Given the description of an element on the screen output the (x, y) to click on. 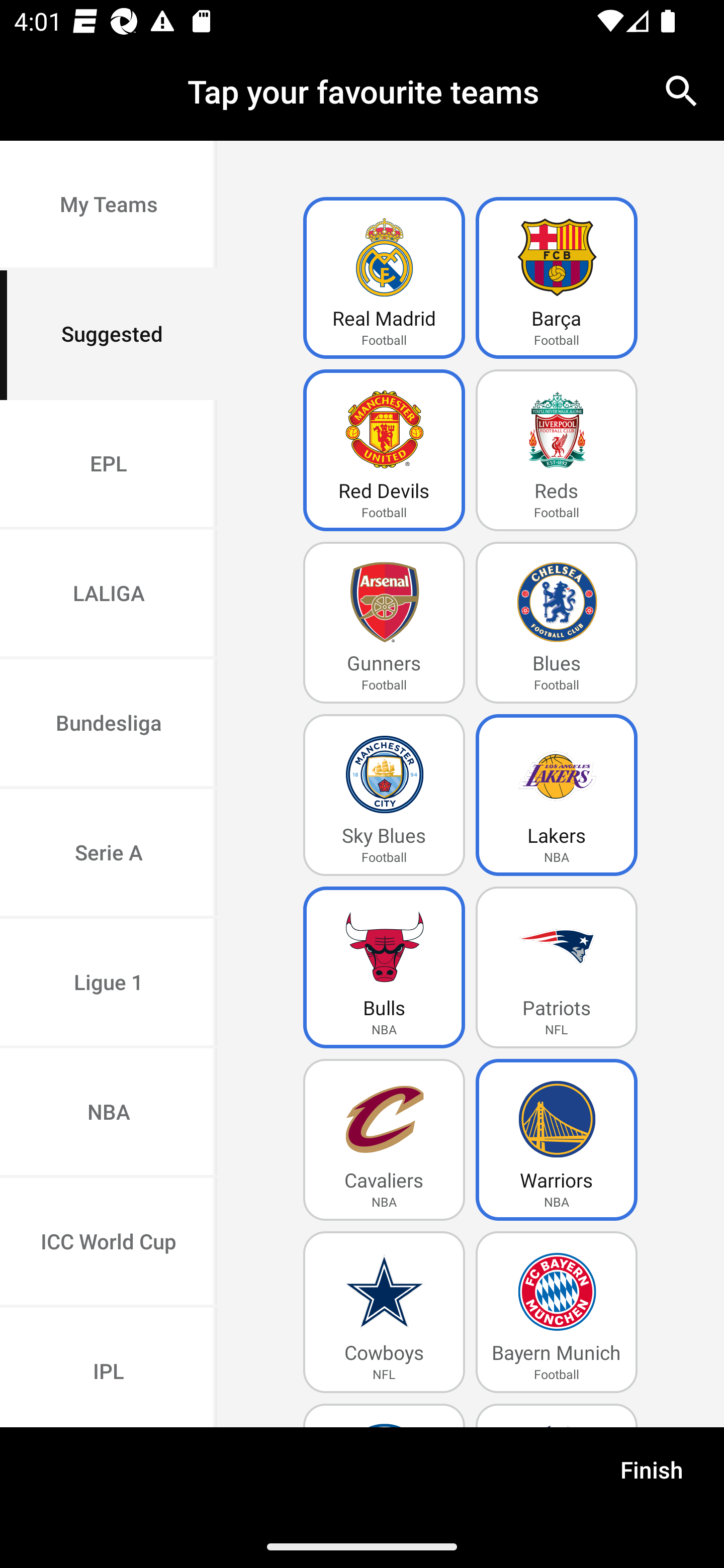
search (681, 90)
My Teams (108, 206)
Real Madrid Real MadridSelected Football (383, 278)
Barça BarçaSelected Football (556, 278)
Suggested (108, 334)
Red Devils Red DevilsSelected Football (383, 450)
Reds Reds Football (556, 450)
EPL (108, 464)
LALIGA (108, 594)
Gunners Gunners Football (383, 623)
Blues Blues Football (556, 623)
Bundesliga (108, 725)
Sky Blues Sky Blues Football (383, 794)
Lakers LakersSelected NBA (556, 794)
Serie A (108, 853)
Bulls BullsSelected NBA (383, 966)
Patriots Patriots NFL (556, 966)
Ligue 1 (108, 983)
NBA (108, 1113)
Cavaliers Cavaliers NBA (383, 1139)
Warriors WarriorsSelected NBA (556, 1139)
ICC World Cup (108, 1242)
Cowboys Cowboys NFL (383, 1311)
Bayern Munich Bayern Munich Football (556, 1311)
IPL (108, 1366)
Finish Finish and Close (651, 1475)
